Given the description of an element on the screen output the (x, y) to click on. 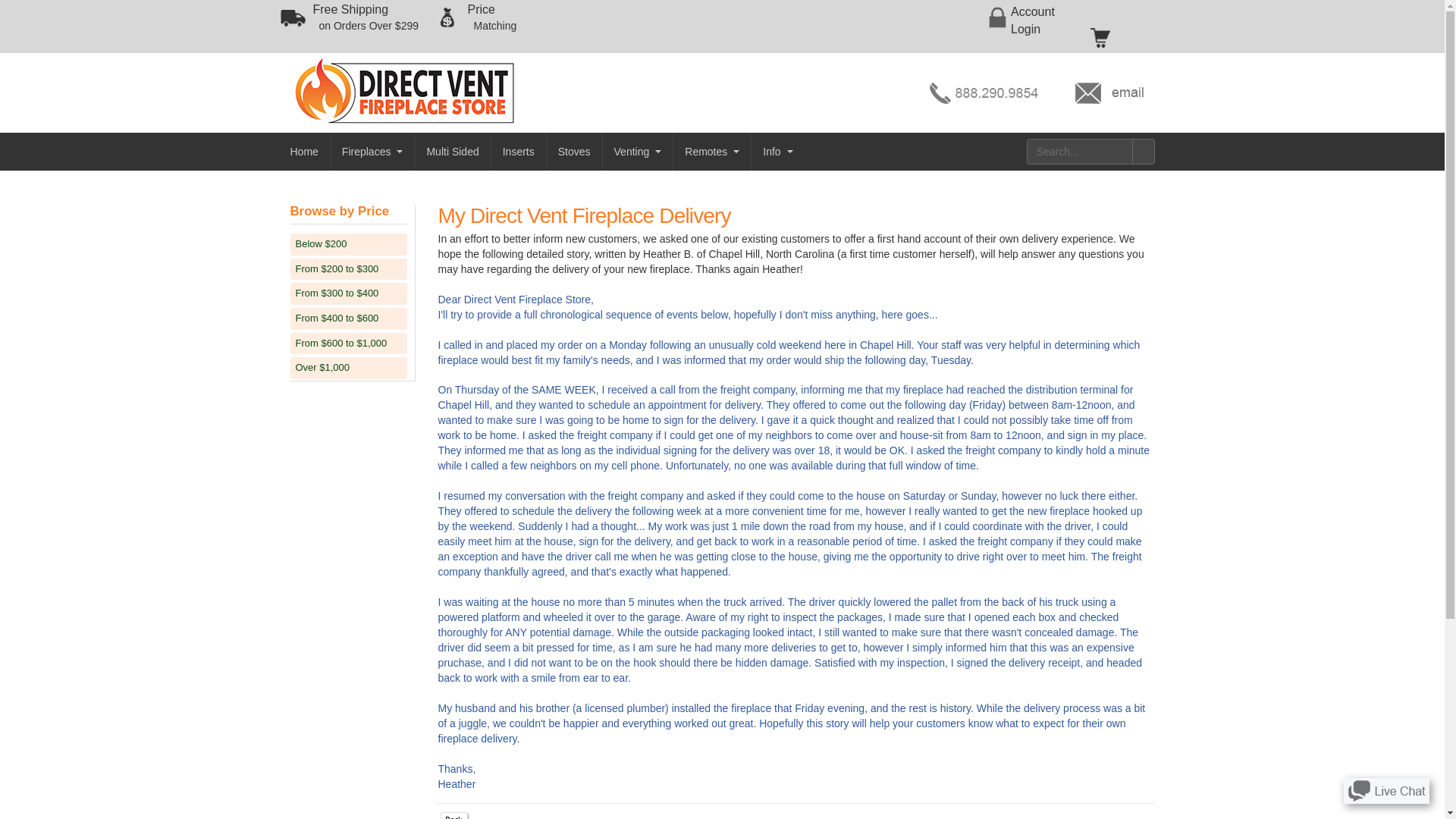
Stoves (491, 18)
Multi Sided (574, 151)
Leave us a message! (451, 151)
Home (1386, 789)
Venting (304, 151)
Inserts (637, 151)
Fireplaces (1032, 20)
